Given the description of an element on the screen output the (x, y) to click on. 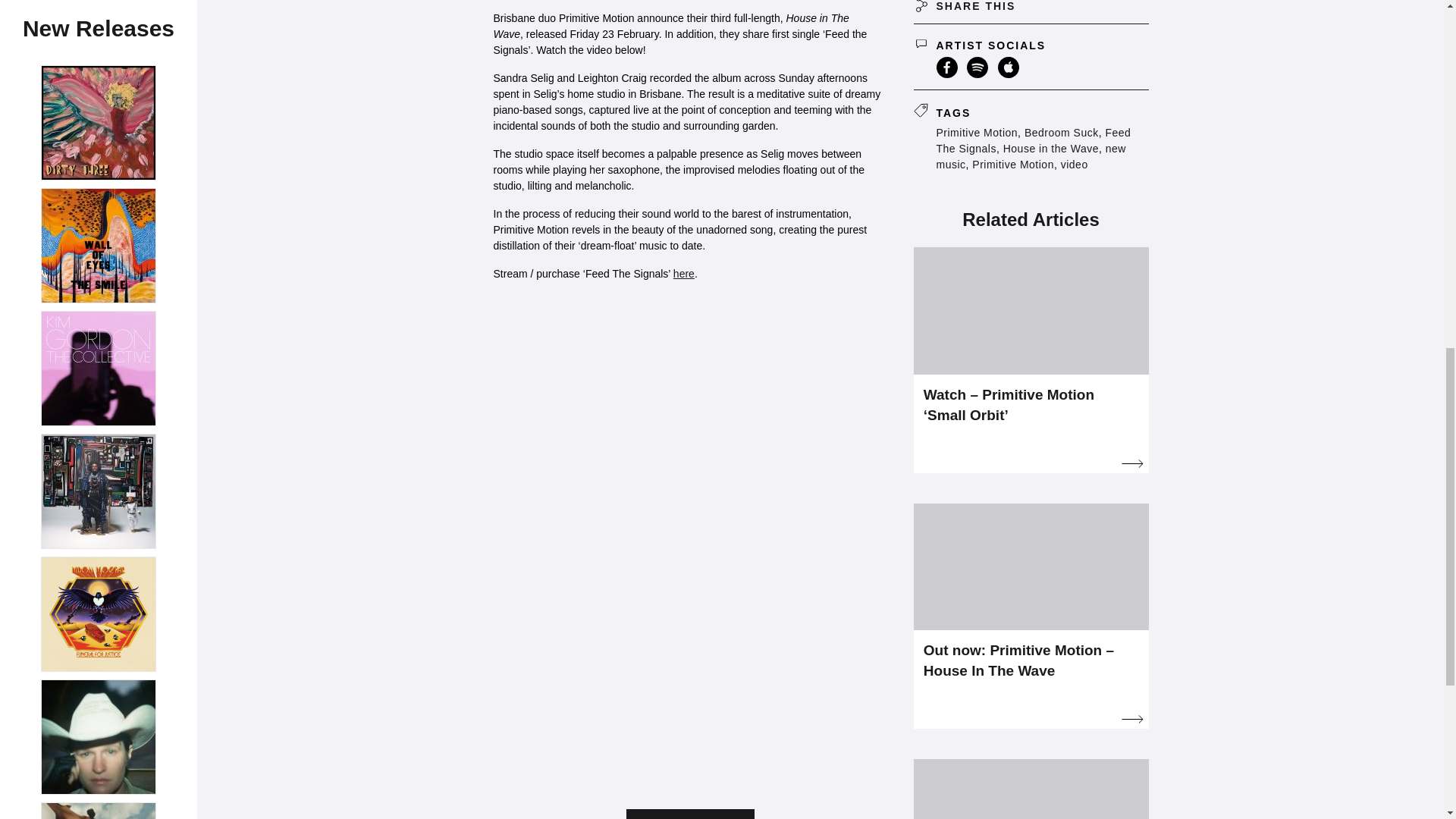
MORE NEWS (690, 814)
video (1074, 164)
SHARE THIS (1030, 11)
Jess Locke - Real Life (98, 243)
FACEBOOK (946, 66)
here (683, 273)
Peggy Gou - I Hear You (98, 163)
Primitive Motion (976, 132)
Primitive Motion (1013, 164)
Sampha - LAHAI (98, 48)
